Given the description of an element on the screen output the (x, y) to click on. 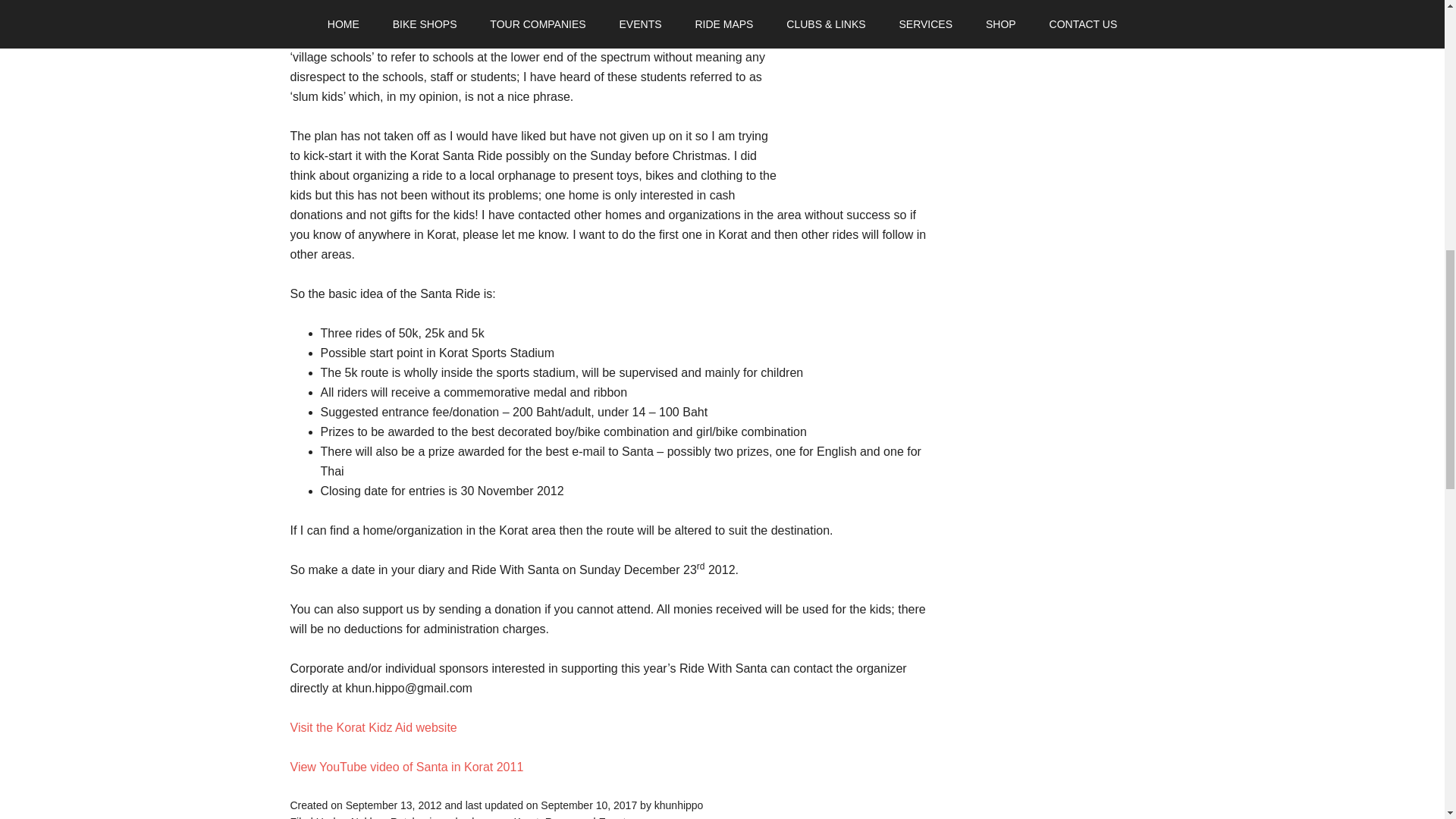
Visit the Korat Kidz Aid website (373, 726)
khunhippo (678, 805)
View YouTube video of Santa in Korat 2011 (405, 766)
